Given the description of an element on the screen output the (x, y) to click on. 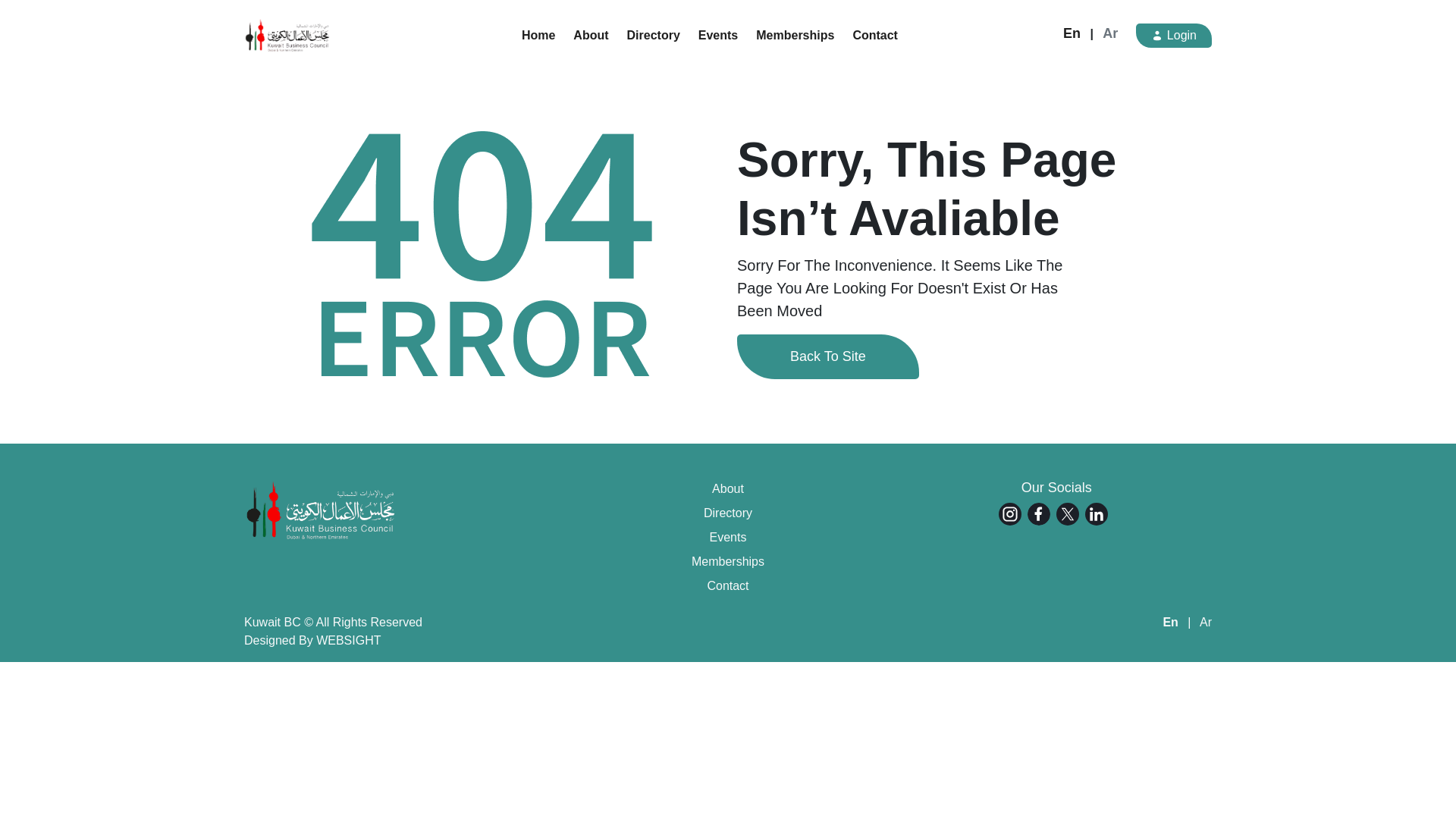
Ar (1110, 32)
About (727, 488)
Memberships (794, 34)
WEBSIGHT (347, 640)
Events (727, 537)
Contact (727, 586)
En (1169, 621)
Ar (1205, 621)
En (1071, 32)
Events (718, 34)
Directory (727, 513)
Back To Site (827, 356)
About (590, 34)
Login (1173, 34)
Directory (653, 34)
